Given the description of an element on the screen output the (x, y) to click on. 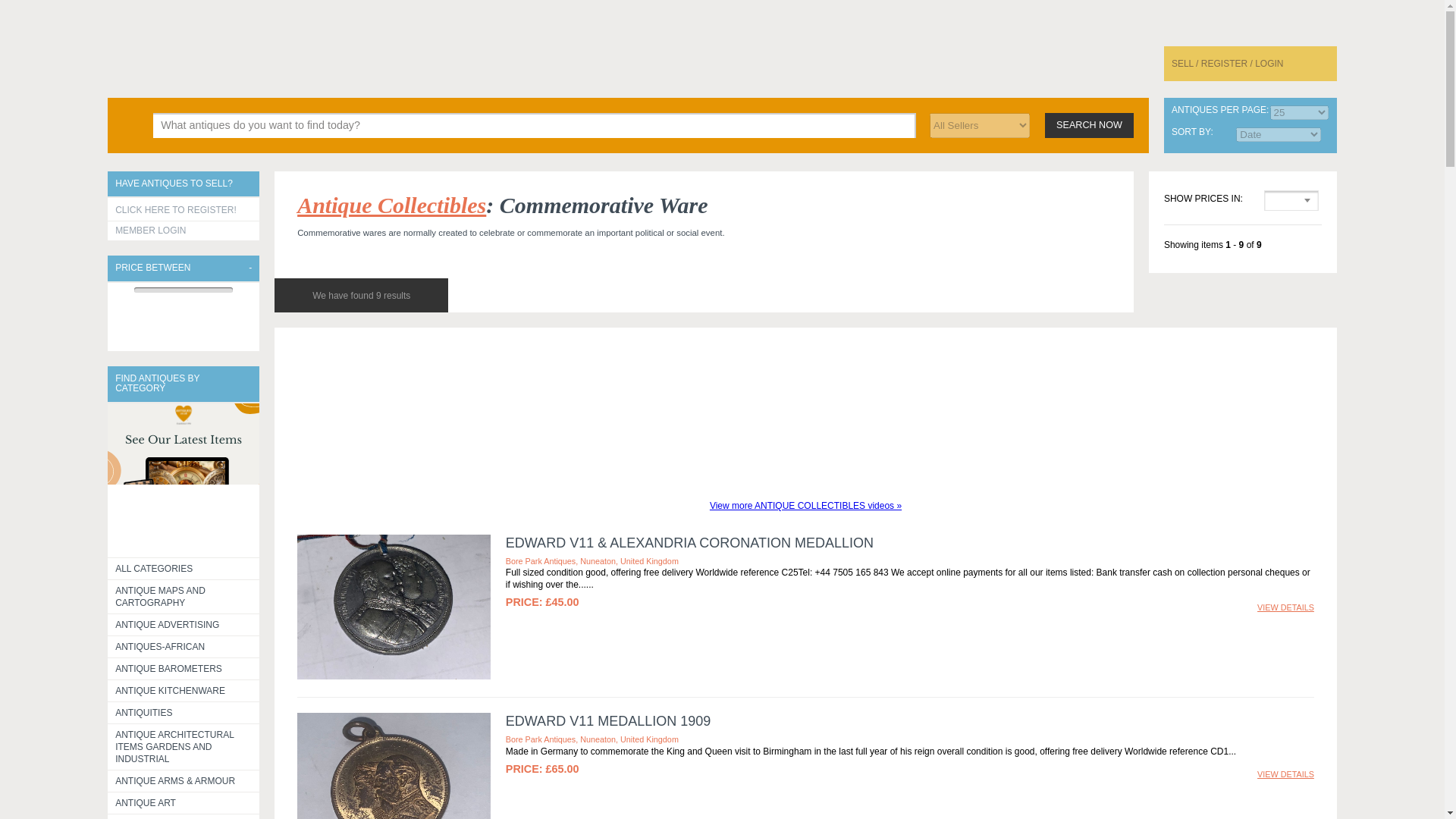
ANTIQUE MAPS AND CARTOGRAPHY (183, 596)
SEARCH NOW (1089, 124)
ANTIQUE KITCHENWARE (183, 690)
ANTIQUITIES (183, 712)
ANTIQUE BAROMETERS (183, 668)
ANTIQUE ART (183, 803)
ANTIQUE ARCHITECTURAL ITEMS GARDENS AND INDUSTRIAL (183, 746)
MEMBER LOGIN (183, 230)
PRICE BETWEEN (183, 267)
ANTIQUES-AFRICAN (183, 646)
